Given the description of an element on the screen output the (x, y) to click on. 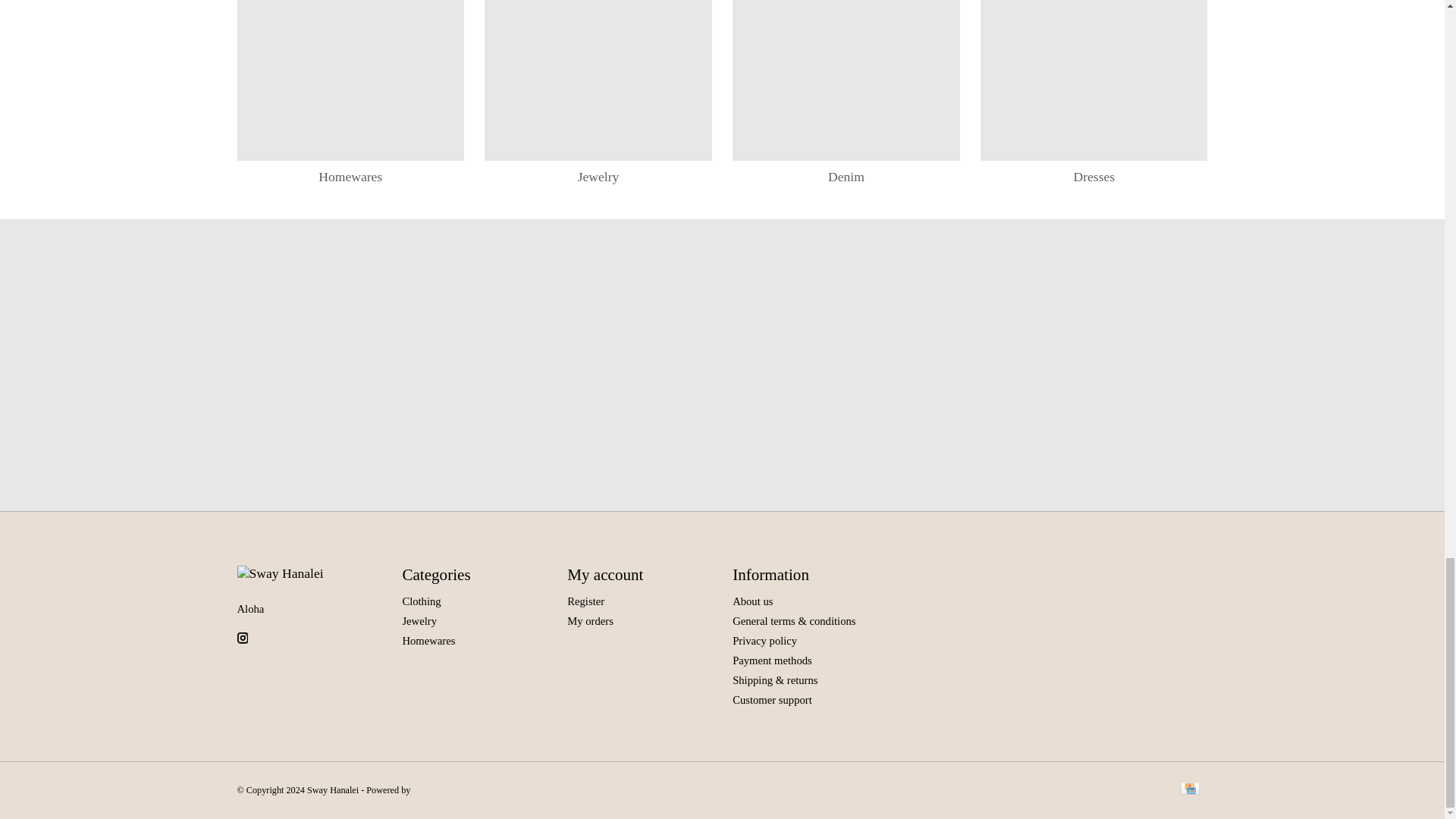
Jewelry (597, 80)
Homewares (350, 80)
Denim (845, 80)
Dresses (1093, 80)
